Given the description of an element on the screen output the (x, y) to click on. 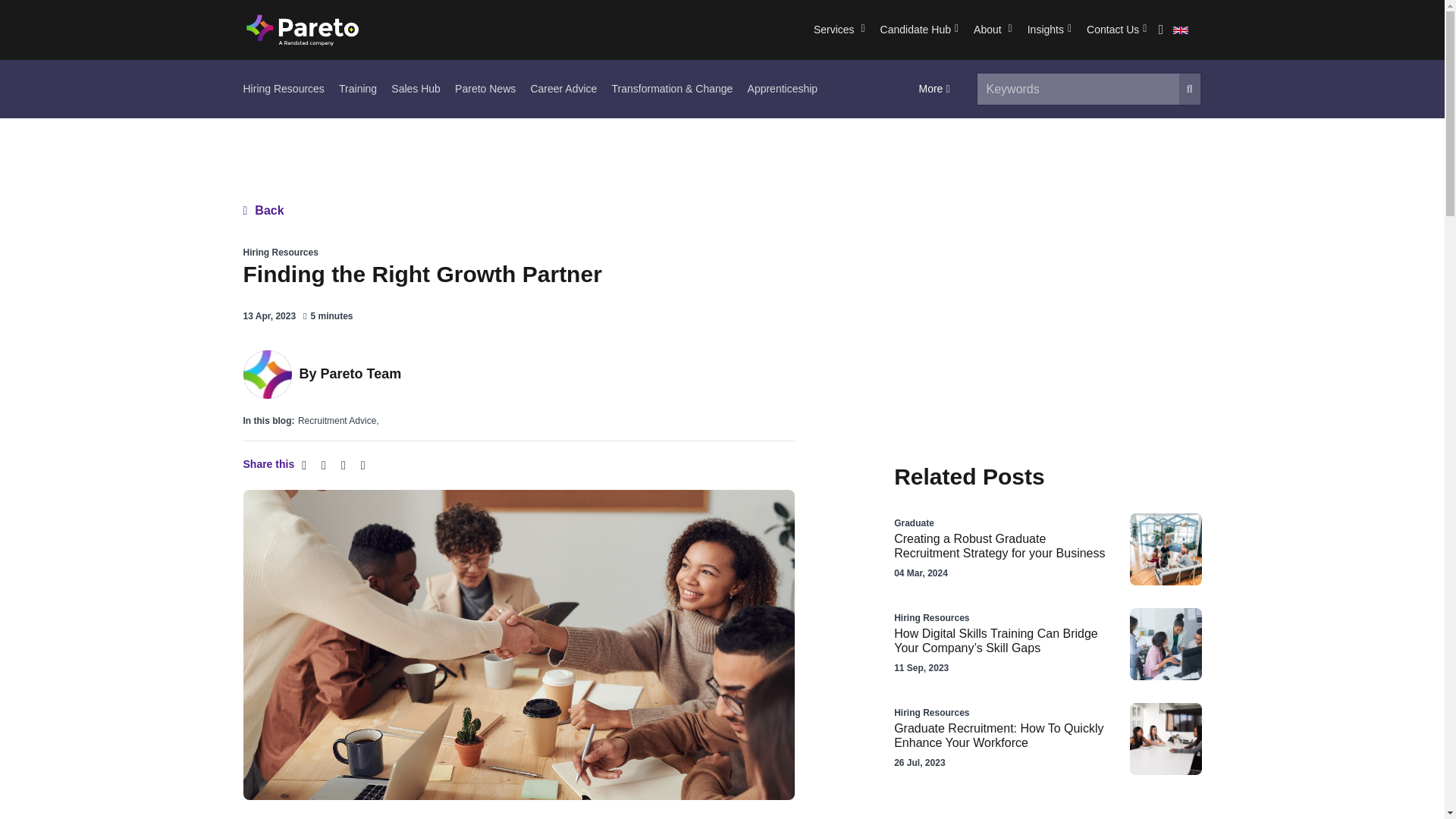
Candidate Hub (919, 29)
Services (839, 29)
About (993, 29)
